Given the description of an element on the screen output the (x, y) to click on. 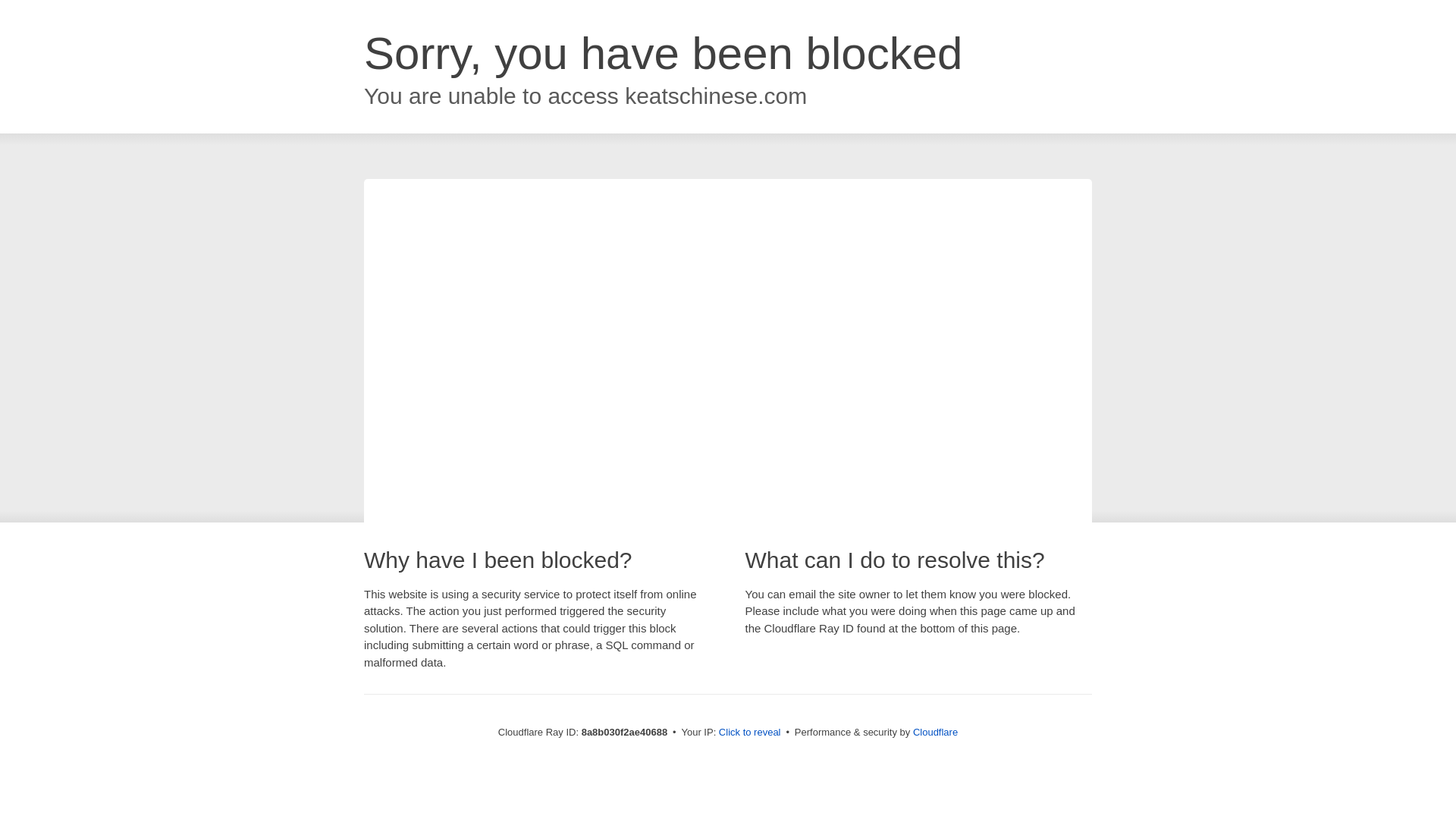
Cloudflare (935, 731)
Click to reveal (749, 732)
